Given the description of an element on the screen output the (x, y) to click on. 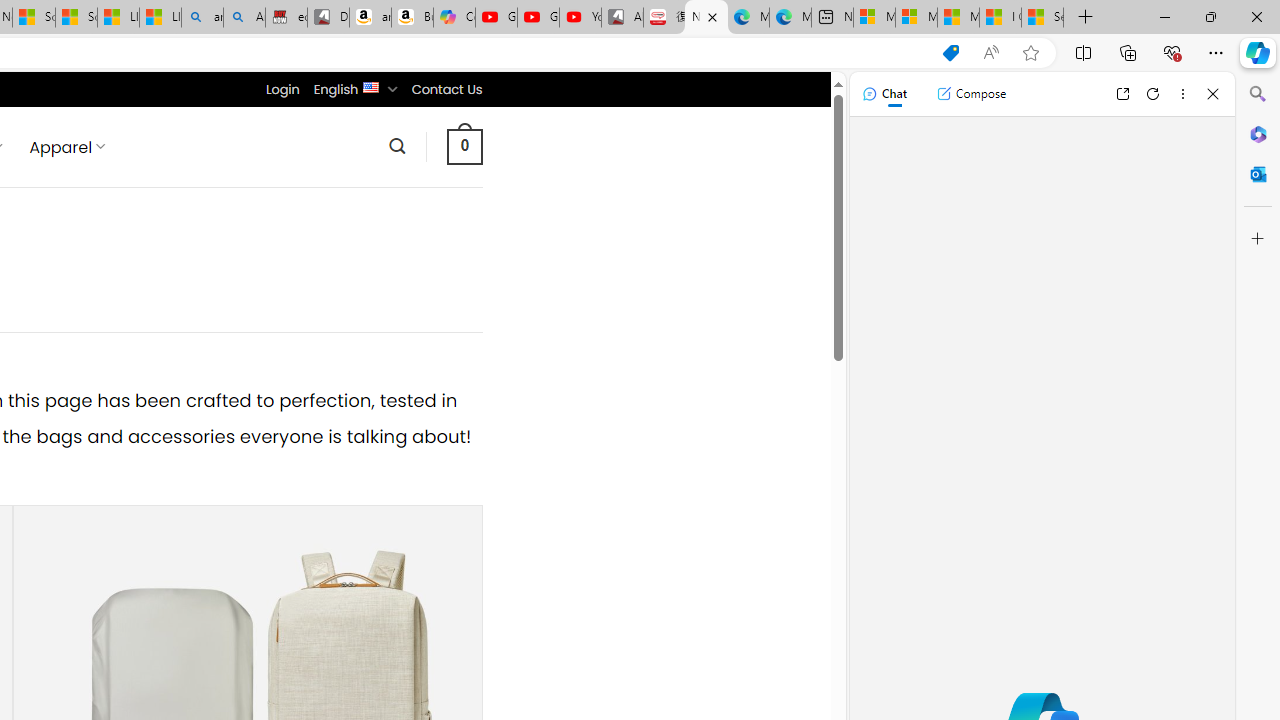
Copilot (453, 17)
Compose (971, 93)
